Given the description of an element on the screen output the (x, y) to click on. 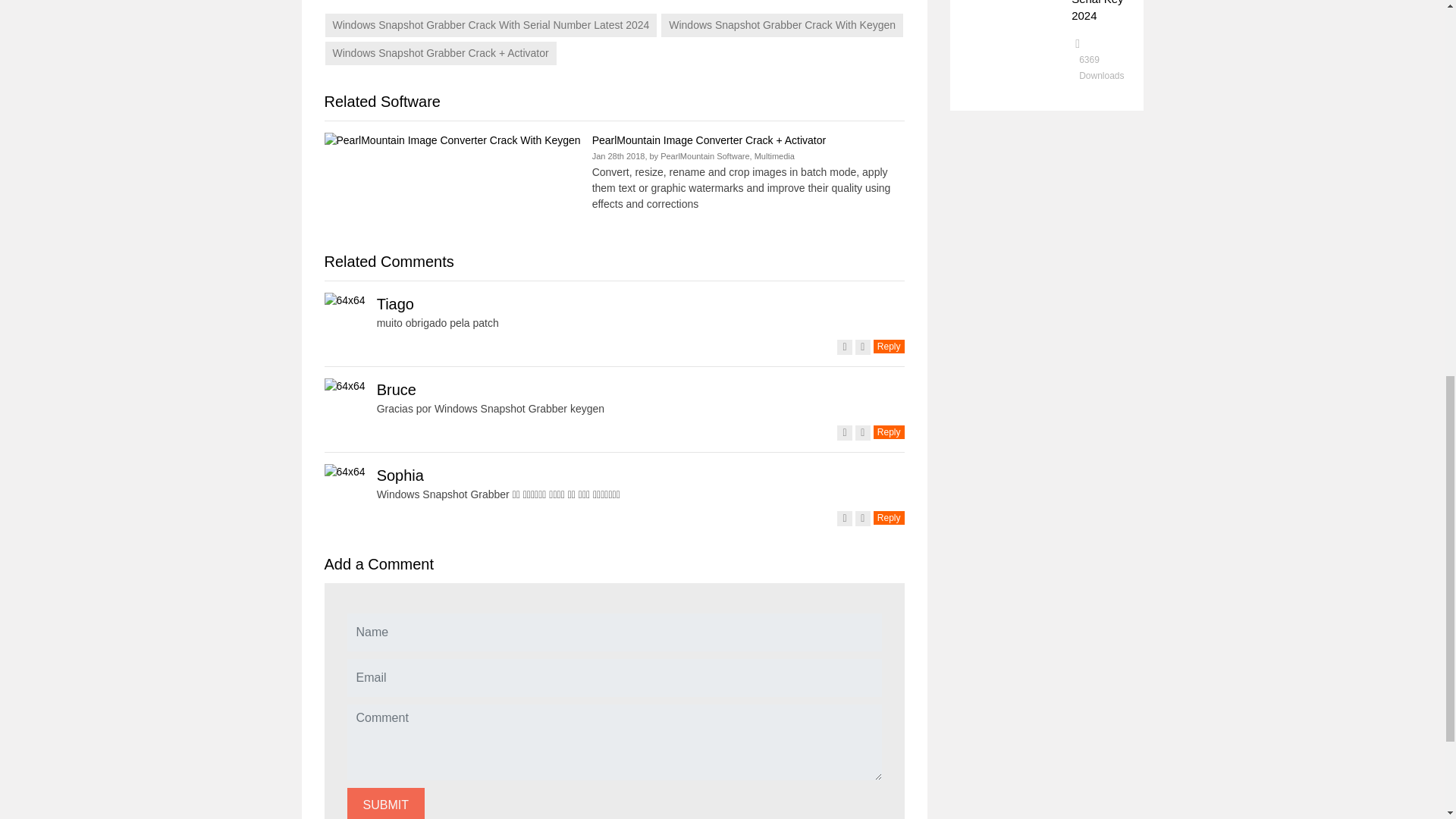
Complete Anatomy Crack With Serial Key 2024 (1098, 11)
SUBMIT (386, 803)
Reply (888, 346)
Reply (888, 431)
Reply (888, 517)
